Given the description of an element on the screen output the (x, y) to click on. 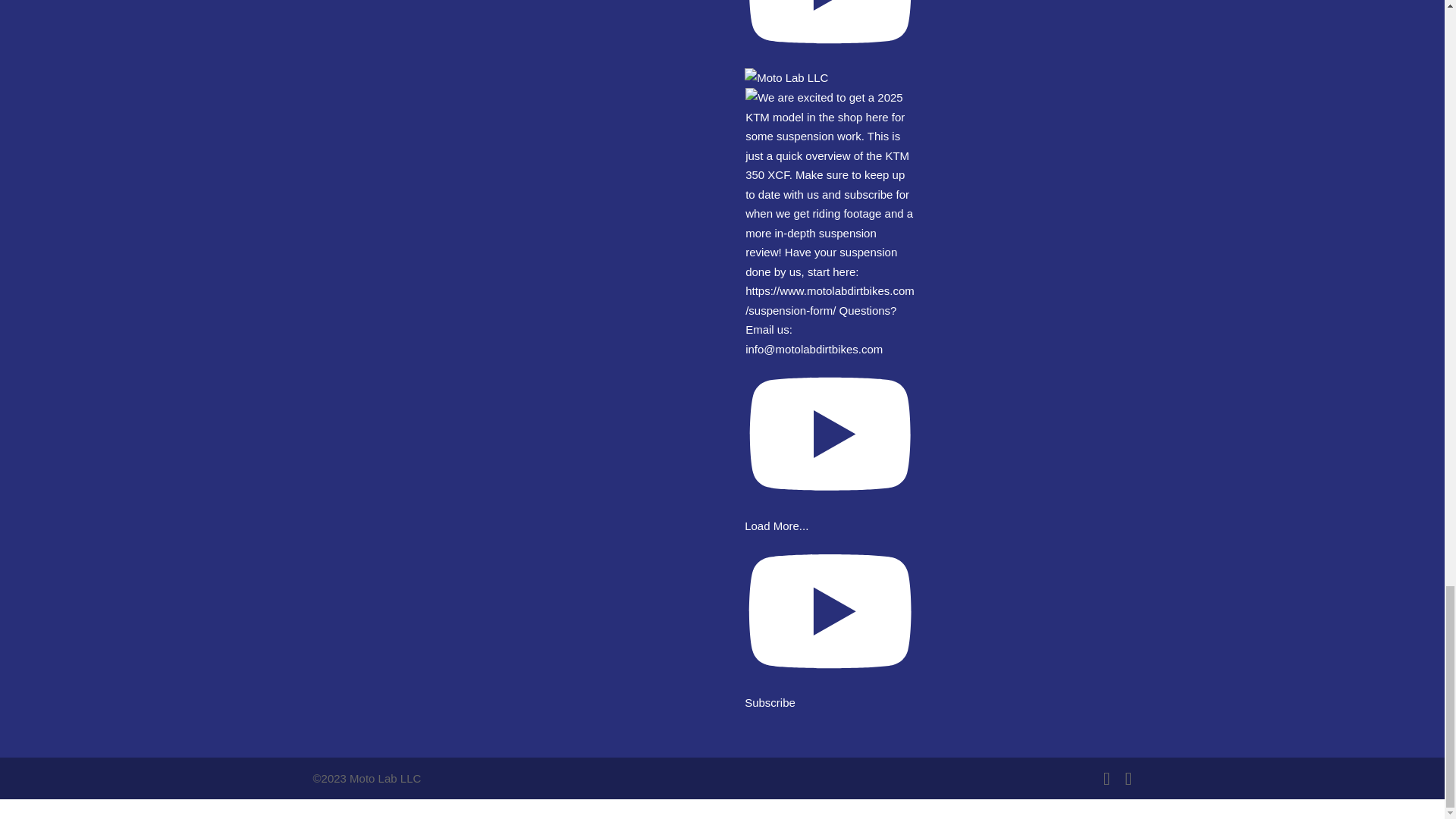
Subscribe (829, 692)
Load More... (776, 525)
Moto Lab LLC (829, 43)
